Given the description of an element on the screen output the (x, y) to click on. 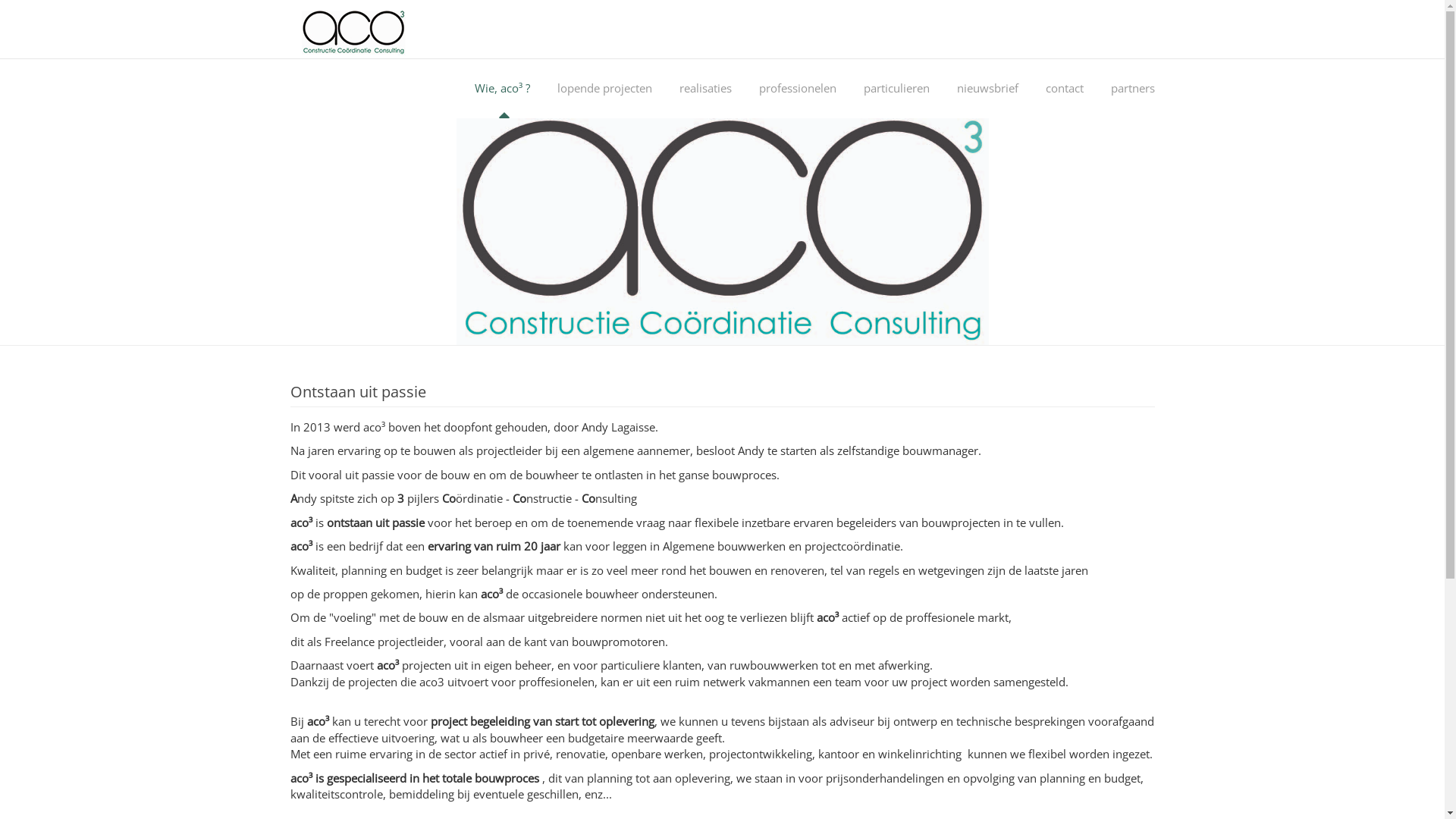
nieuwsbrief Element type: text (986, 88)
professionelen Element type: text (797, 88)
contact Element type: text (1064, 88)
particulieren Element type: text (896, 88)
ACO3 Element type: text (384, 33)
partners Element type: text (1132, 88)
realisaties Element type: text (704, 88)
lopende projecten Element type: text (604, 88)
